Given the description of an element on the screen output the (x, y) to click on. 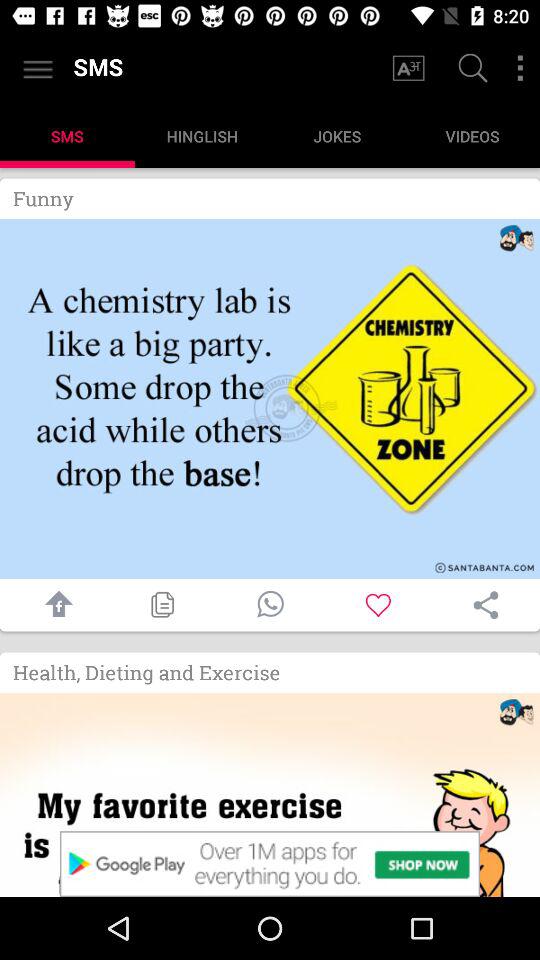
share with facebook (54, 604)
